Given the description of an element on the screen output the (x, y) to click on. 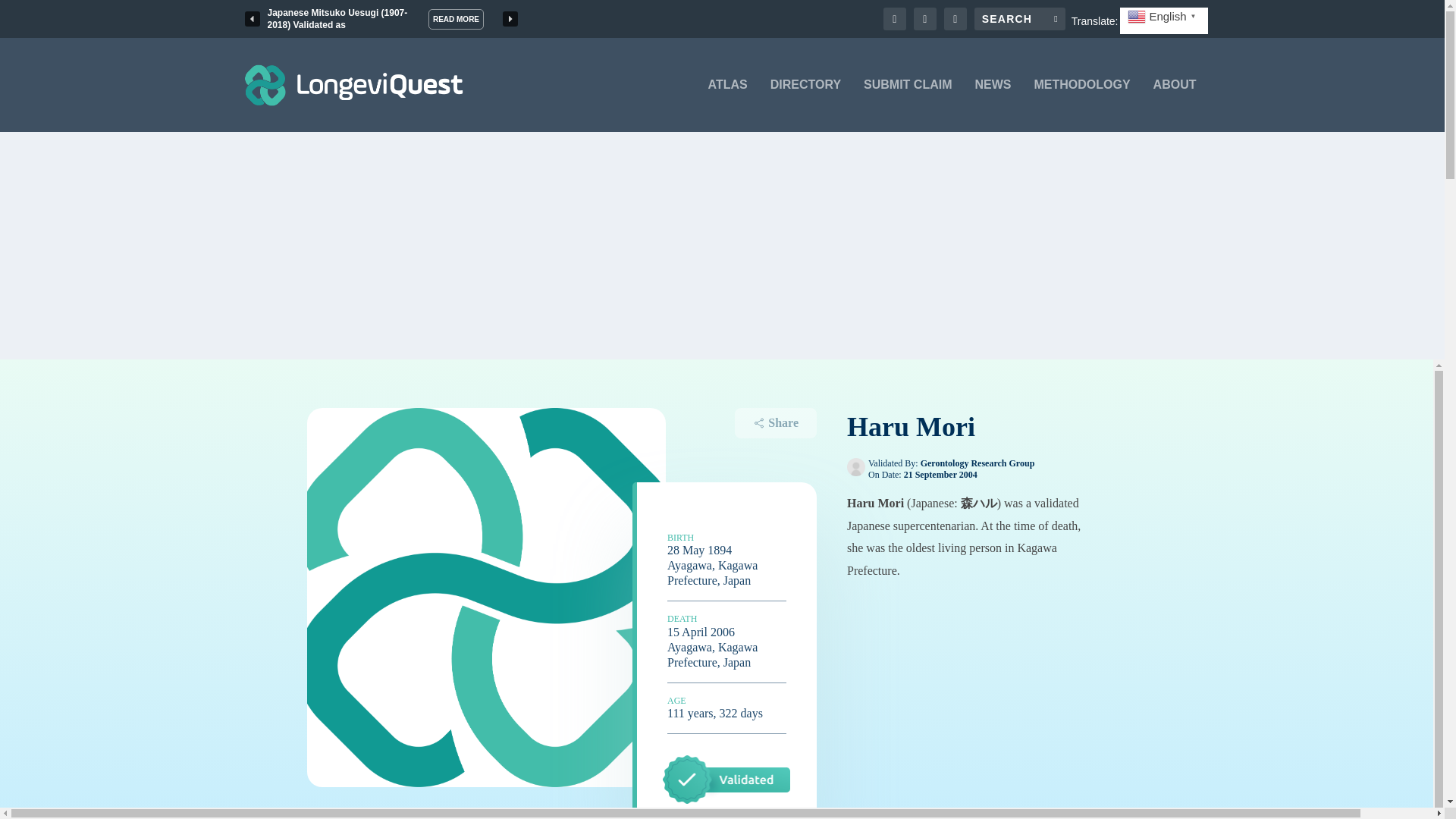
ATLAS (727, 104)
METHODOLOGY (1082, 104)
ABOUT (1174, 104)
Search for: (1019, 18)
NEWS (993, 104)
SUBMIT CLAIM (907, 104)
READ MORE (455, 19)
DIRECTORY (805, 104)
